Given the description of an element on the screen output the (x, y) to click on. 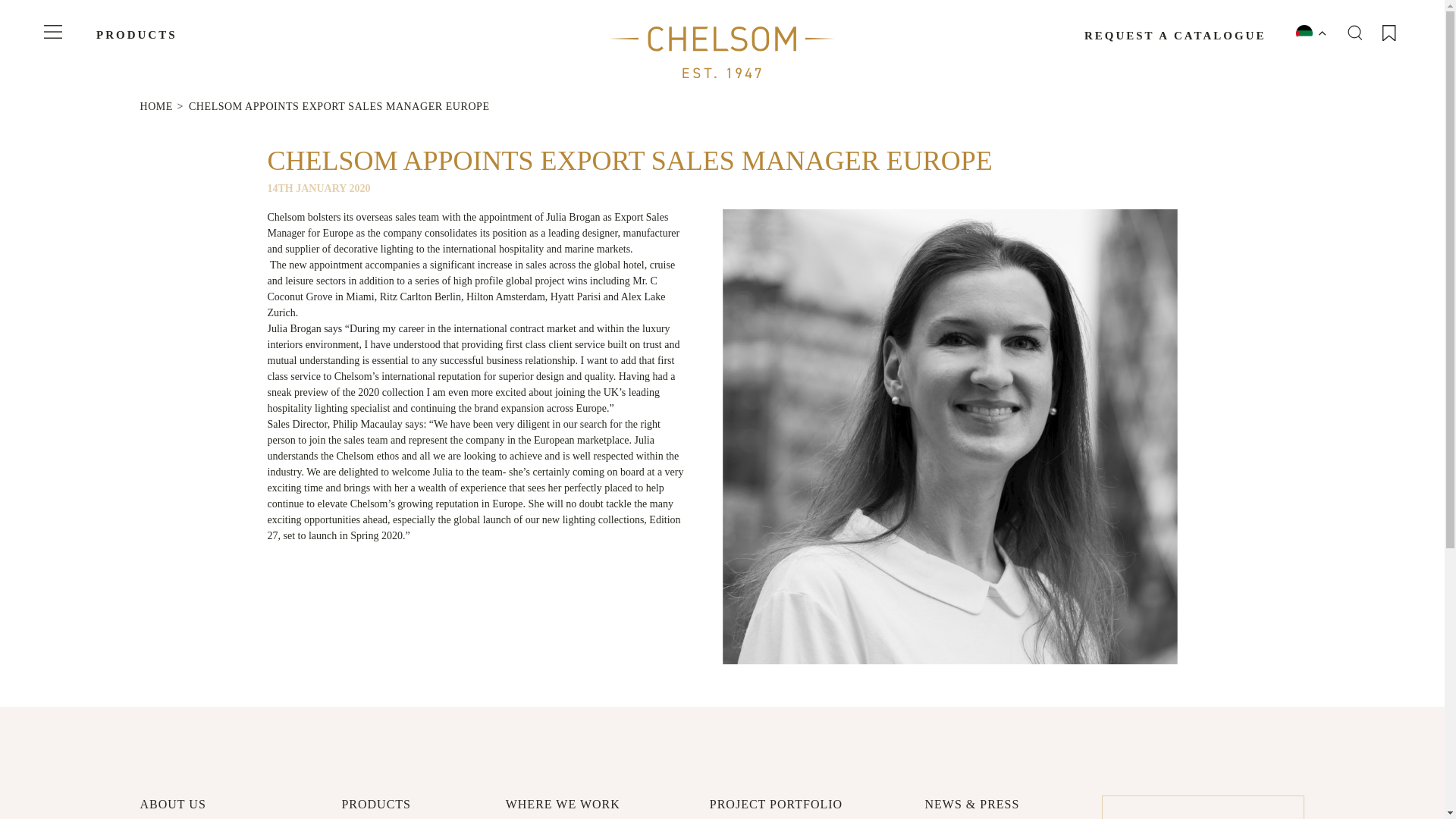
JANUARY (320, 188)
REQUEST A CATALOGUE (1175, 35)
HOME (155, 106)
Toggle Menu (52, 31)
Toggle Search (1353, 31)
REQUEST A CATALOGUE (1175, 35)
PRODUCTS (136, 34)
